Given the description of an element on the screen output the (x, y) to click on. 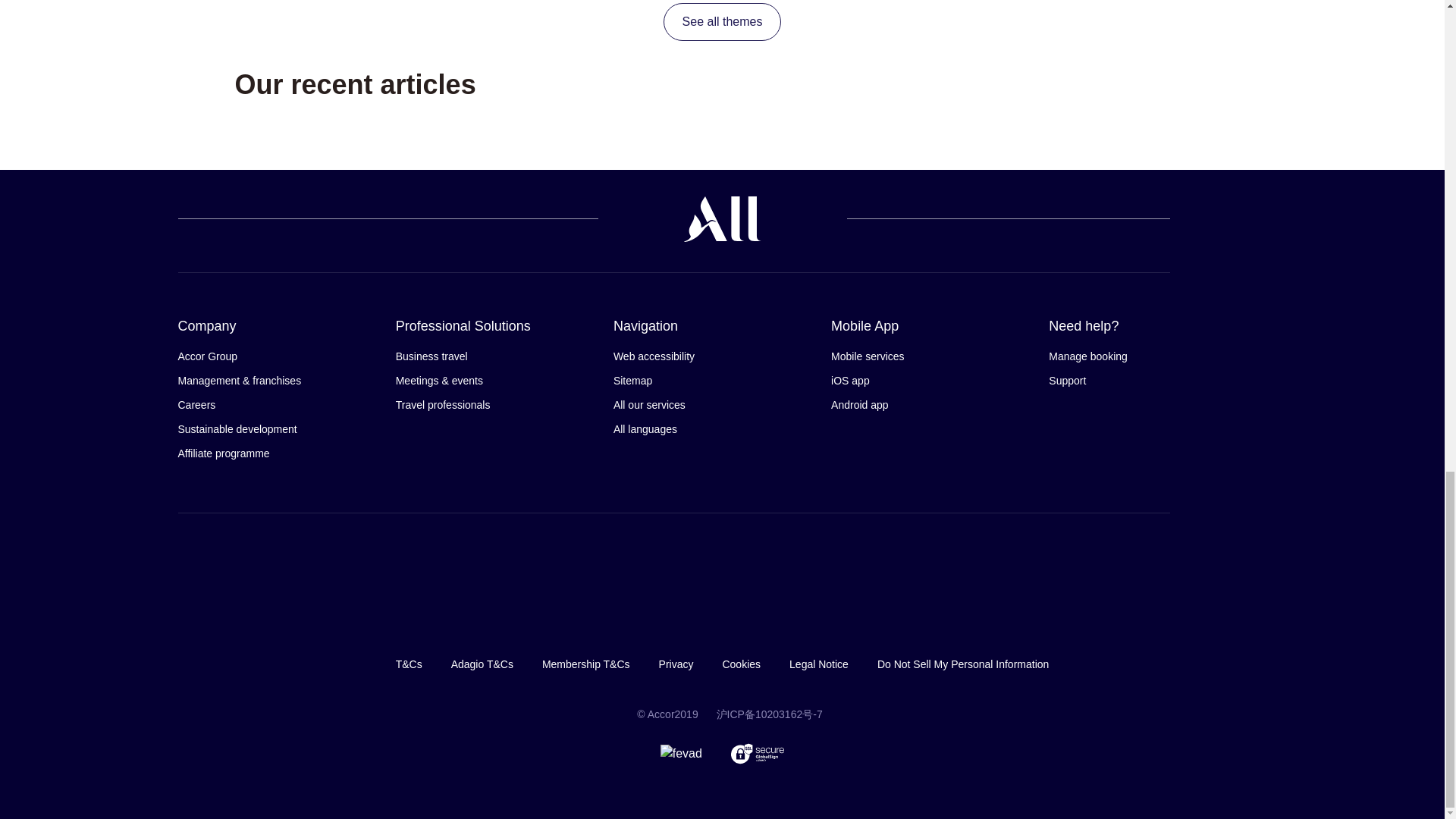
Adagio General Terms and Conditions of Services (482, 664)
General Terms and Conditions of Services (409, 664)
New window (769, 714)
